Given the description of an element on the screen output the (x, y) to click on. 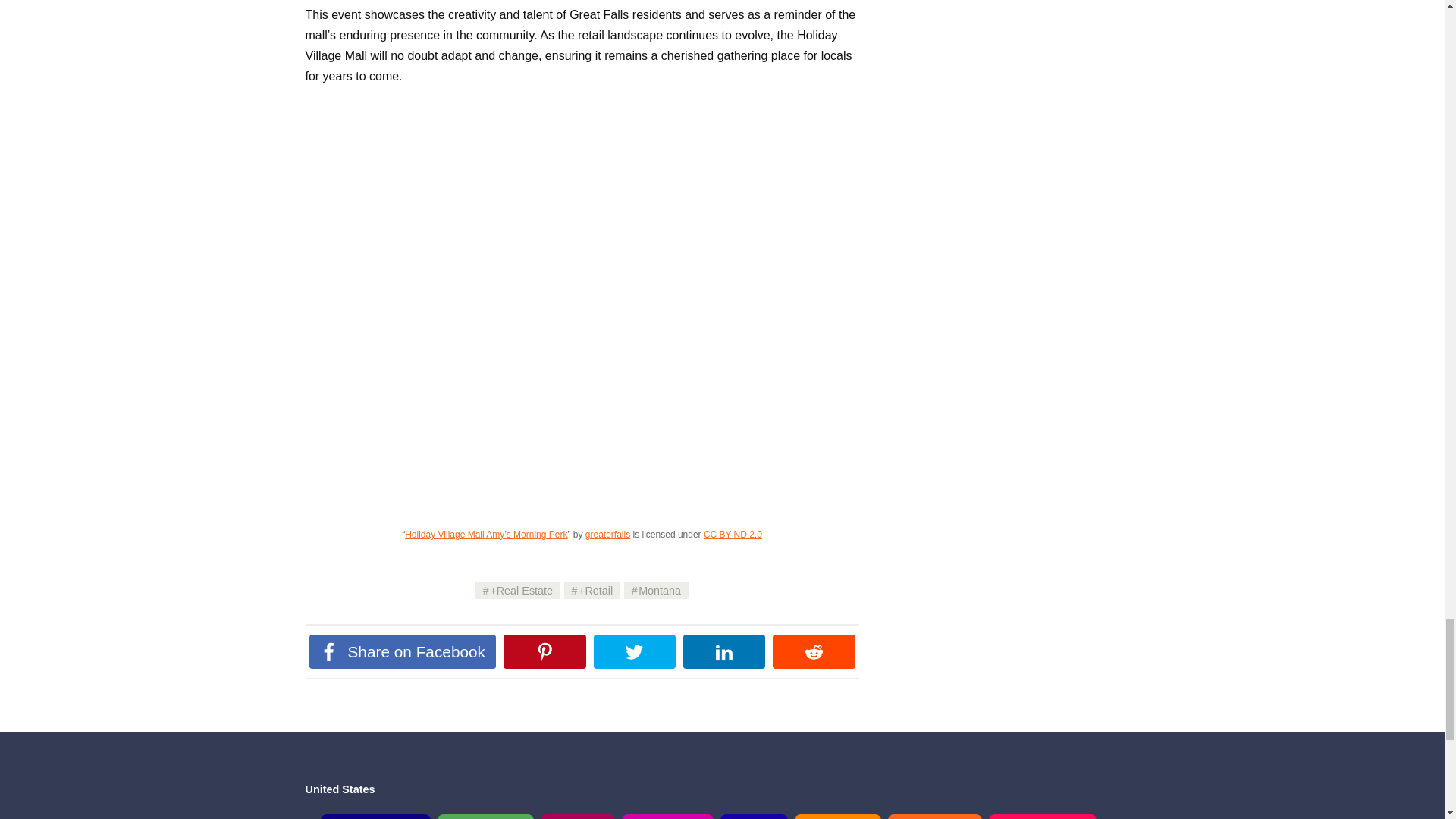
Montana (656, 590)
CC BY-ND 2.0 (732, 534)
greaterfalls (607, 534)
